Given the description of an element on the screen output the (x, y) to click on. 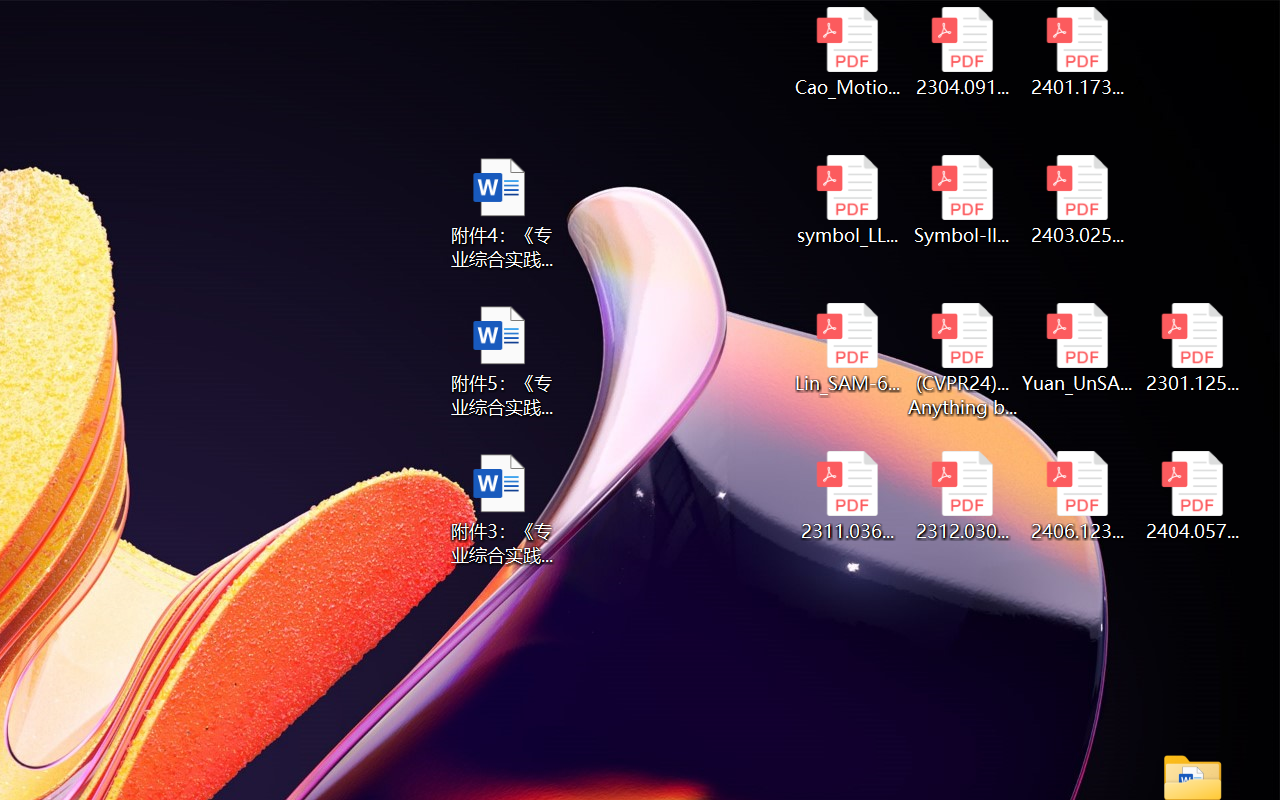
2312.03032v2.pdf (962, 496)
2311.03658v2.pdf (846, 496)
